Given the description of an element on the screen output the (x, y) to click on. 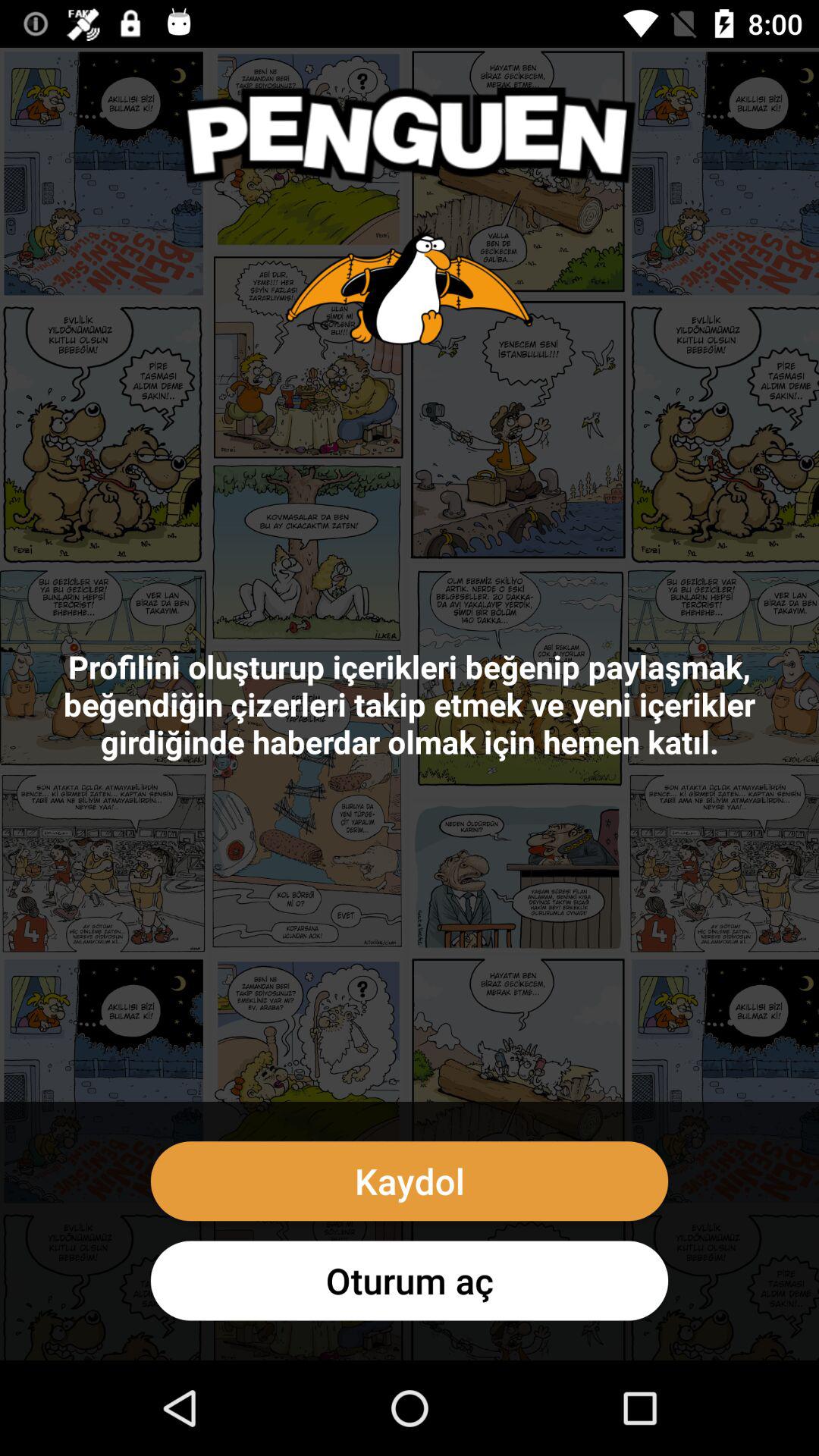
jump to the kaydol item (409, 1181)
